Given the description of an element on the screen output the (x, y) to click on. 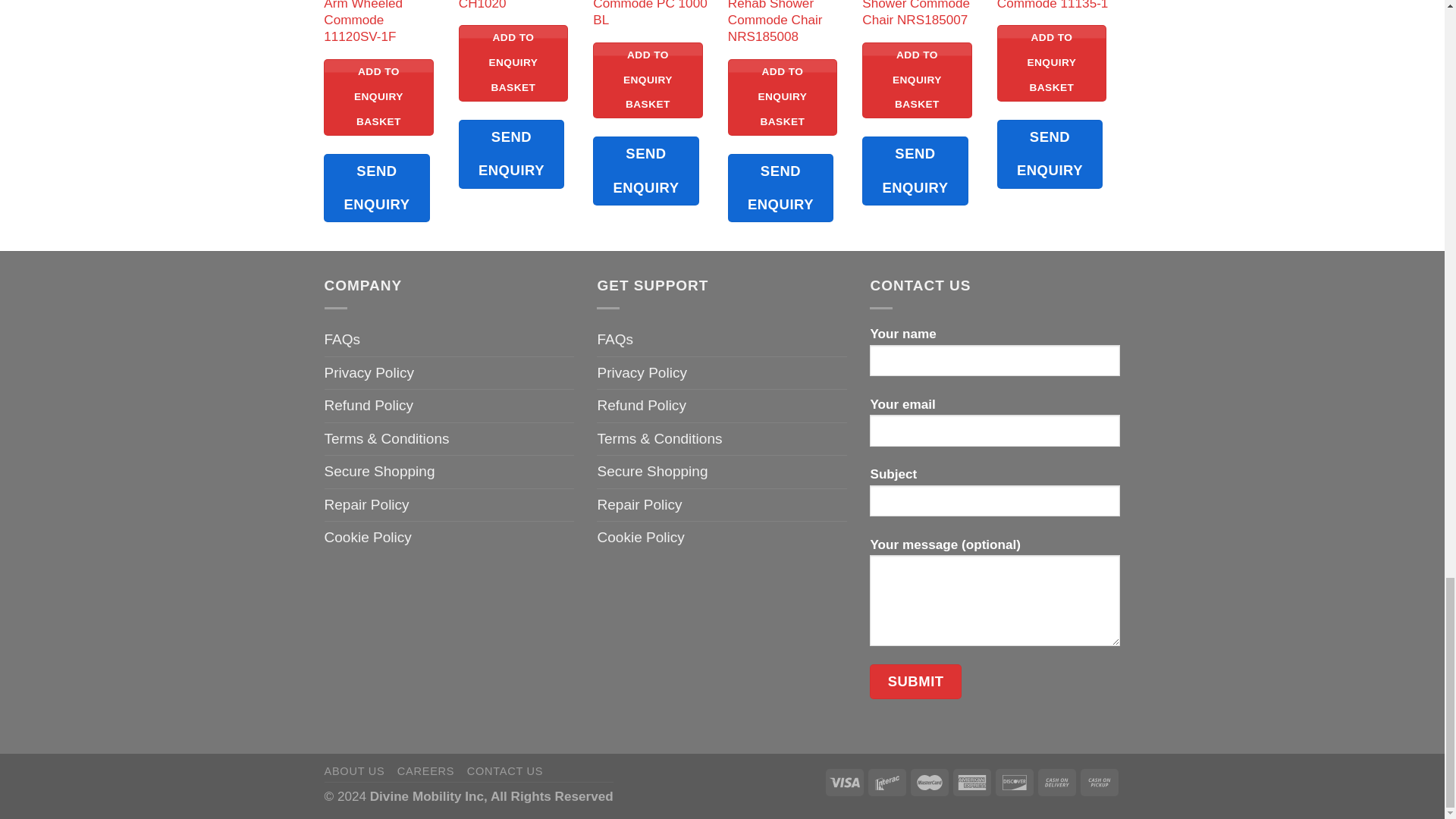
Submit (914, 681)
